Given the description of an element on the screen output the (x, y) to click on. 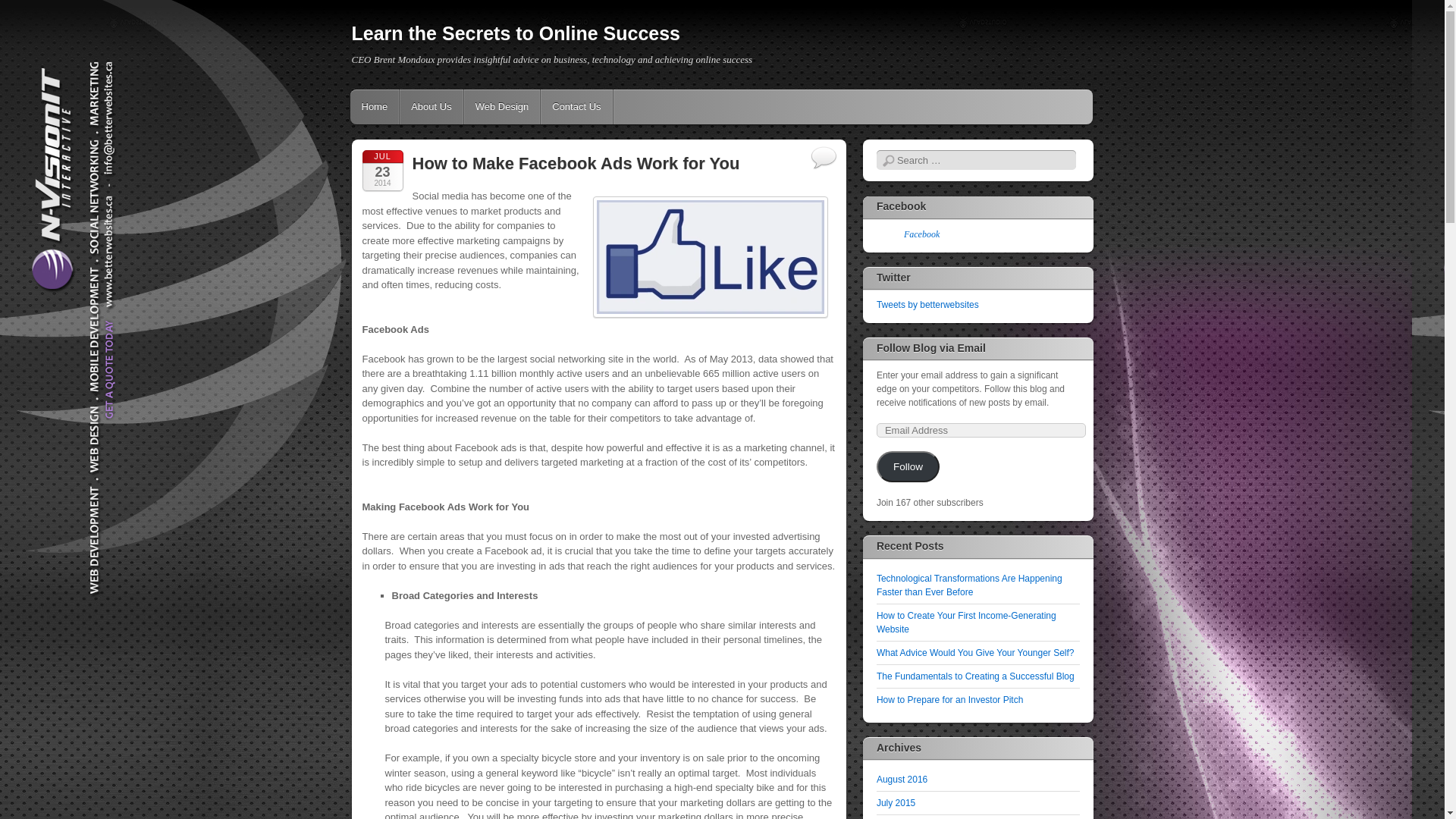
About Us Element type: text (430, 106)
Learn the Secrets to Online Success Element type: text (515, 32)
Twitter Element type: text (893, 277)
What Advice Would You Give Your Younger Self? Element type: text (975, 652)
The Fundamentals to Creating a Successful Blog Element type: text (975, 676)
How to Prepare for an Investor Pitch Element type: text (949, 699)
Skip to content Element type: text (394, 106)
Web Design Element type: text (502, 106)
How to Create Your First Income-Generating Website Element type: text (966, 622)
Search Element type: text (20, 9)
Tweets by betterwebsites Element type: text (927, 304)
Contact Us Element type: text (575, 106)
Facebook Element type: text (921, 234)
Facebook Element type: text (900, 206)
July 2015 Element type: text (895, 802)
Home Element type: text (374, 106)
August 2016 Element type: text (901, 779)
Follow Element type: text (907, 466)
